Given the description of an element on the screen output the (x, y) to click on. 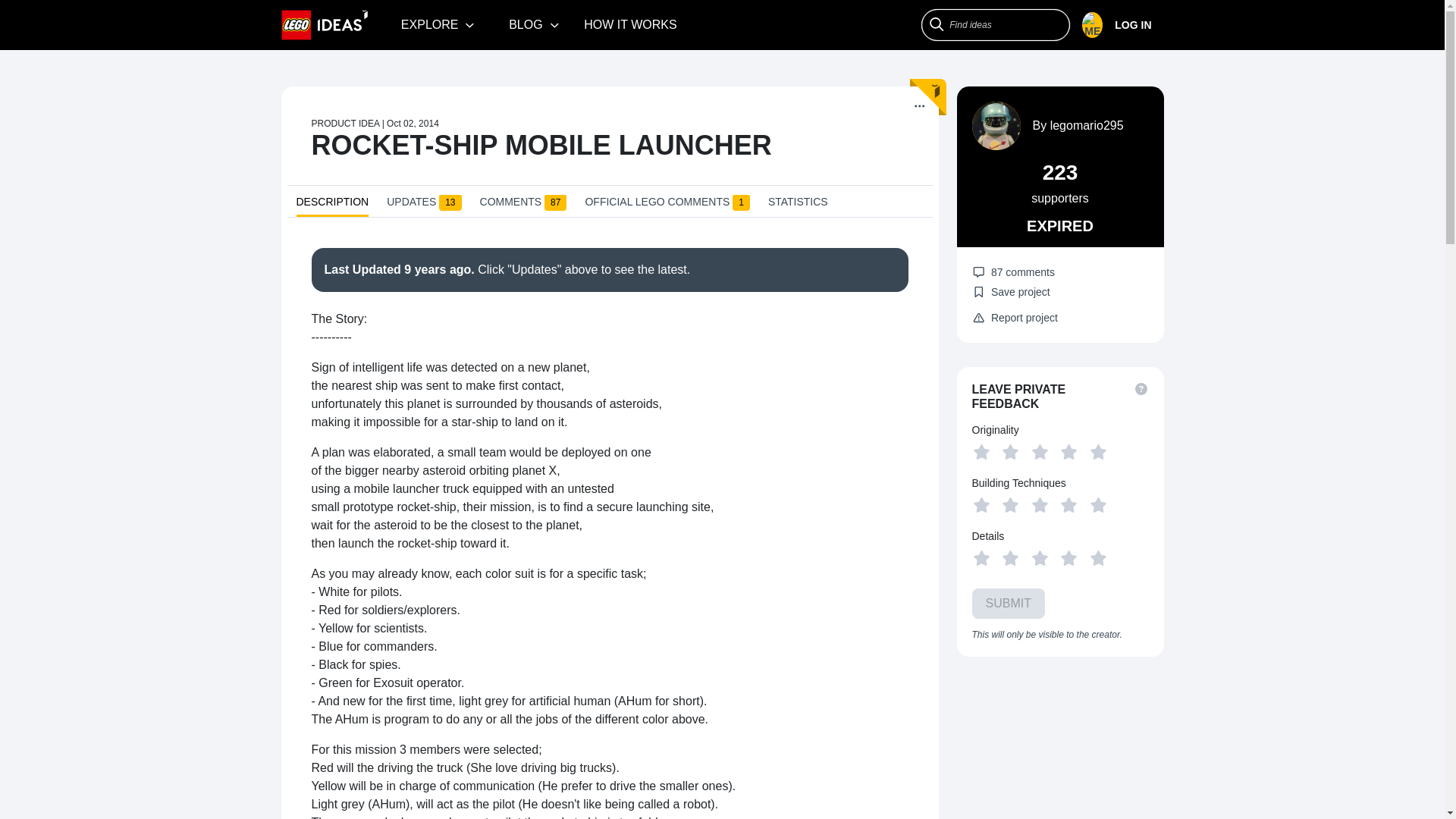
2014-10-02T11:59:57Z (413, 122)
legomario295 (1086, 124)
LOG IN (1122, 25)
EXPLORE (437, 24)
COMMENTS 87 (523, 204)
Me (1116, 25)
STATISTICS (798, 204)
Save project (1010, 291)
Report project (1015, 317)
BLOG (534, 24)
How It Works (630, 24)
OFFICIAL LEGO COMMENTS 1 (667, 204)
UPDATES 13 (424, 204)
